Given the description of an element on the screen output the (x, y) to click on. 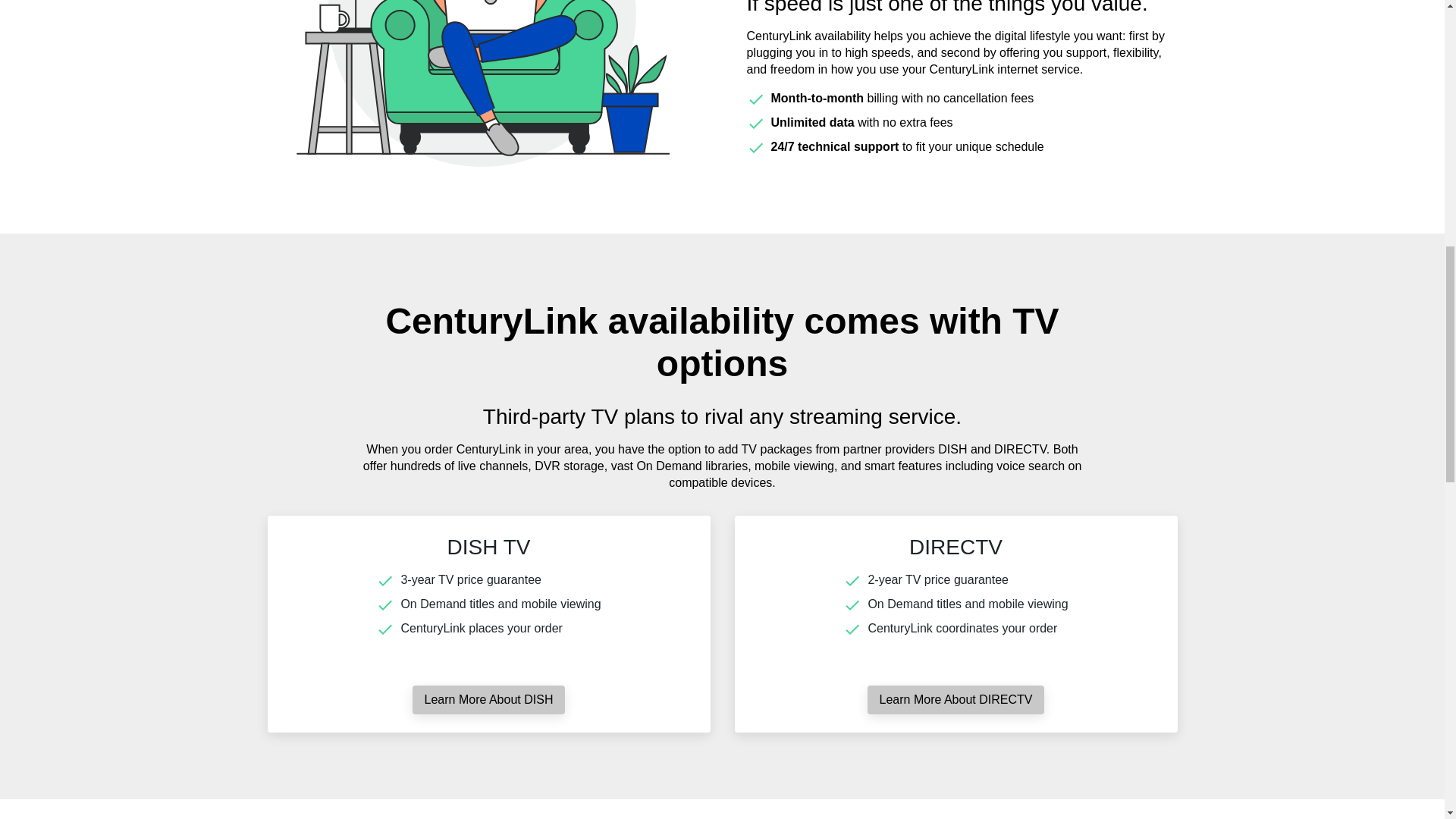
Learn More About DISH (489, 699)
Learn More About DIRECTV (956, 699)
